Given the description of an element on the screen output the (x, y) to click on. 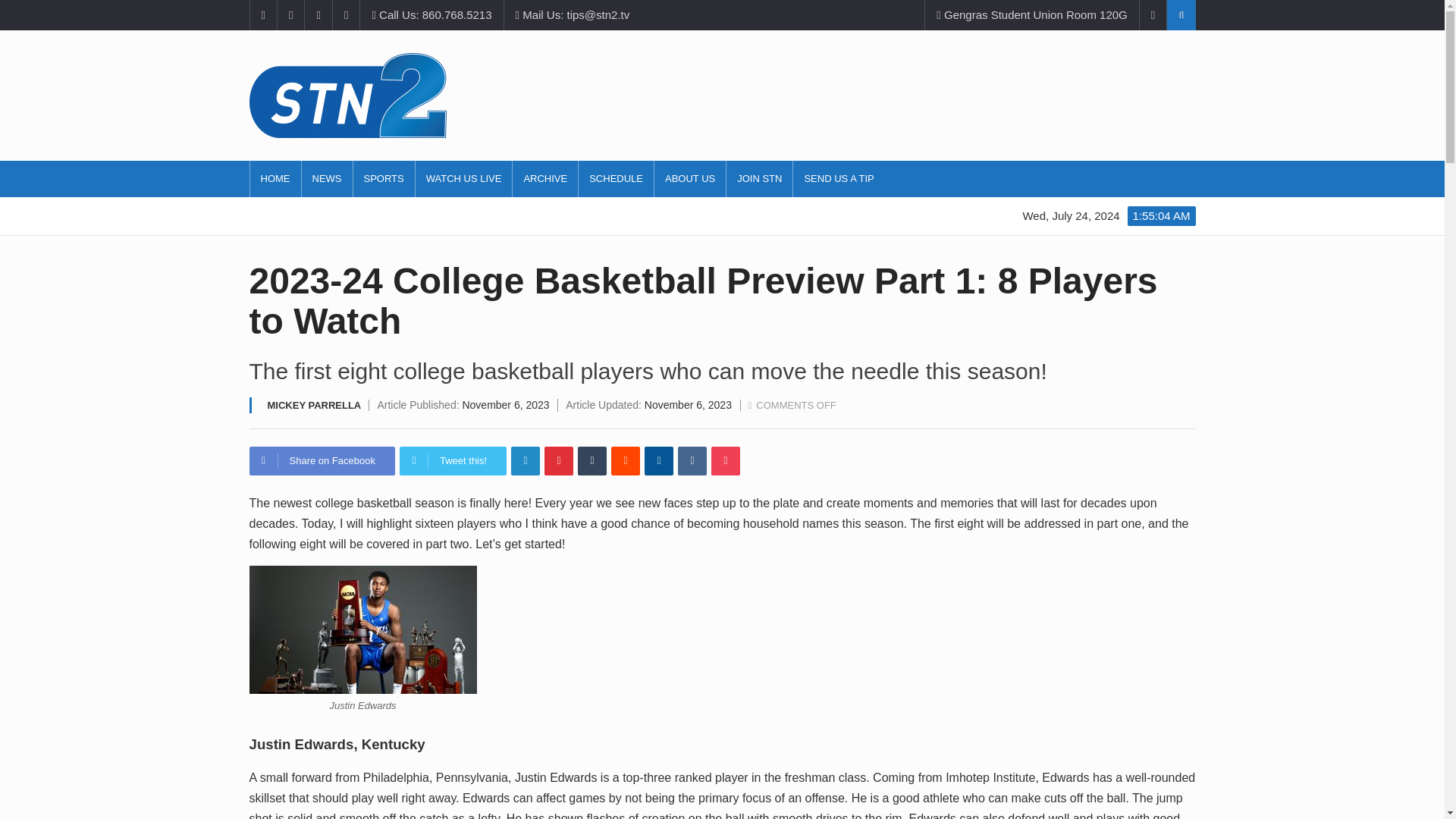
NEWS (326, 178)
Gengras Student Union Room 120G (1031, 15)
ABOUT US (689, 178)
Facebook (321, 460)
Pinterest (558, 460)
Vk (692, 460)
Digg (658, 460)
Pocket (725, 460)
Twitter (452, 460)
Linkedin (525, 460)
HOME (275, 178)
SEND US A TIP (838, 178)
SPORTS (383, 178)
STN Channel 2 (721, 95)
WATCH US LIVE (463, 178)
